Given the description of an element on the screen output the (x, y) to click on. 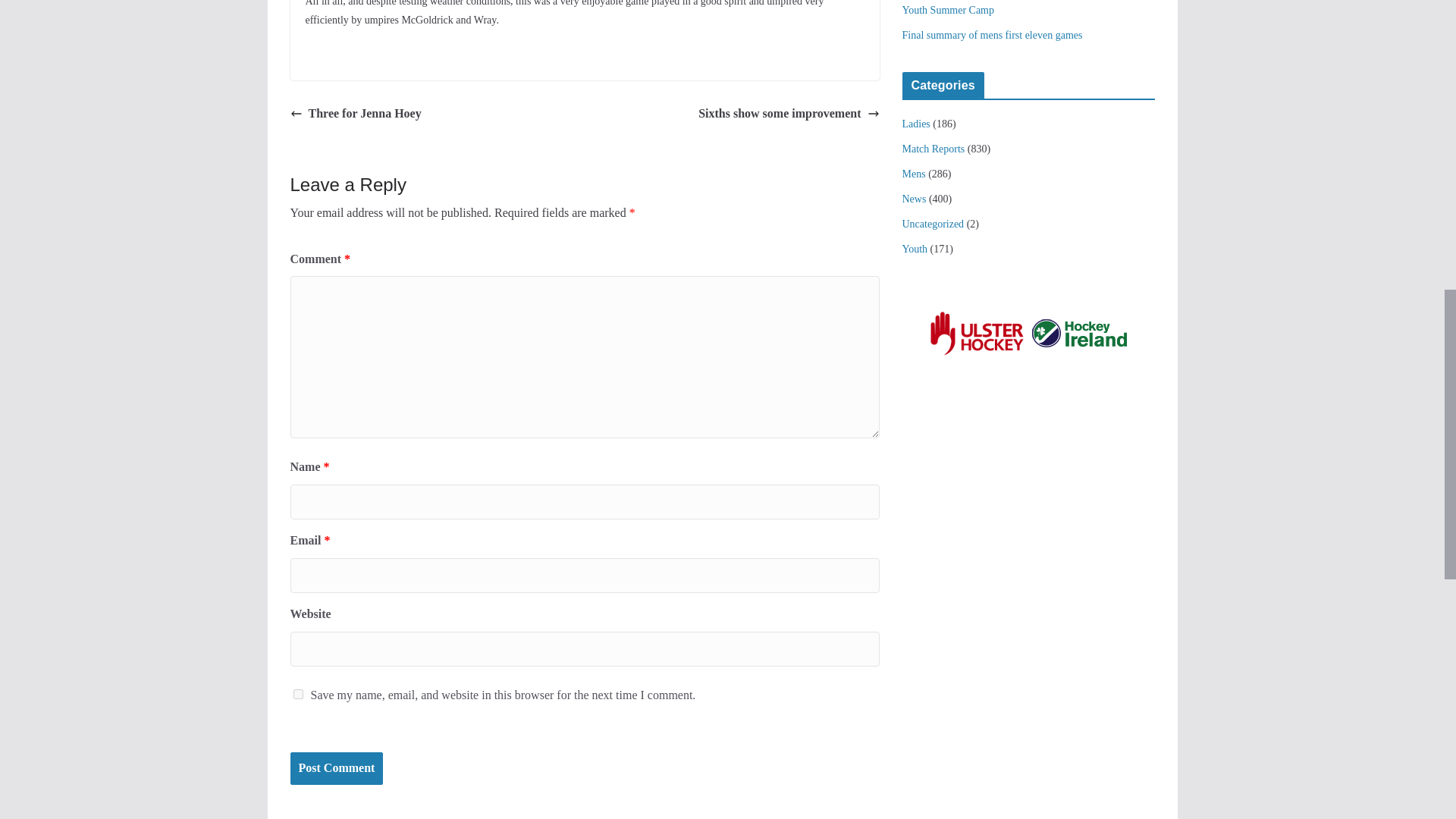
Post Comment (335, 768)
yes (297, 694)
